Given the description of an element on the screen output the (x, y) to click on. 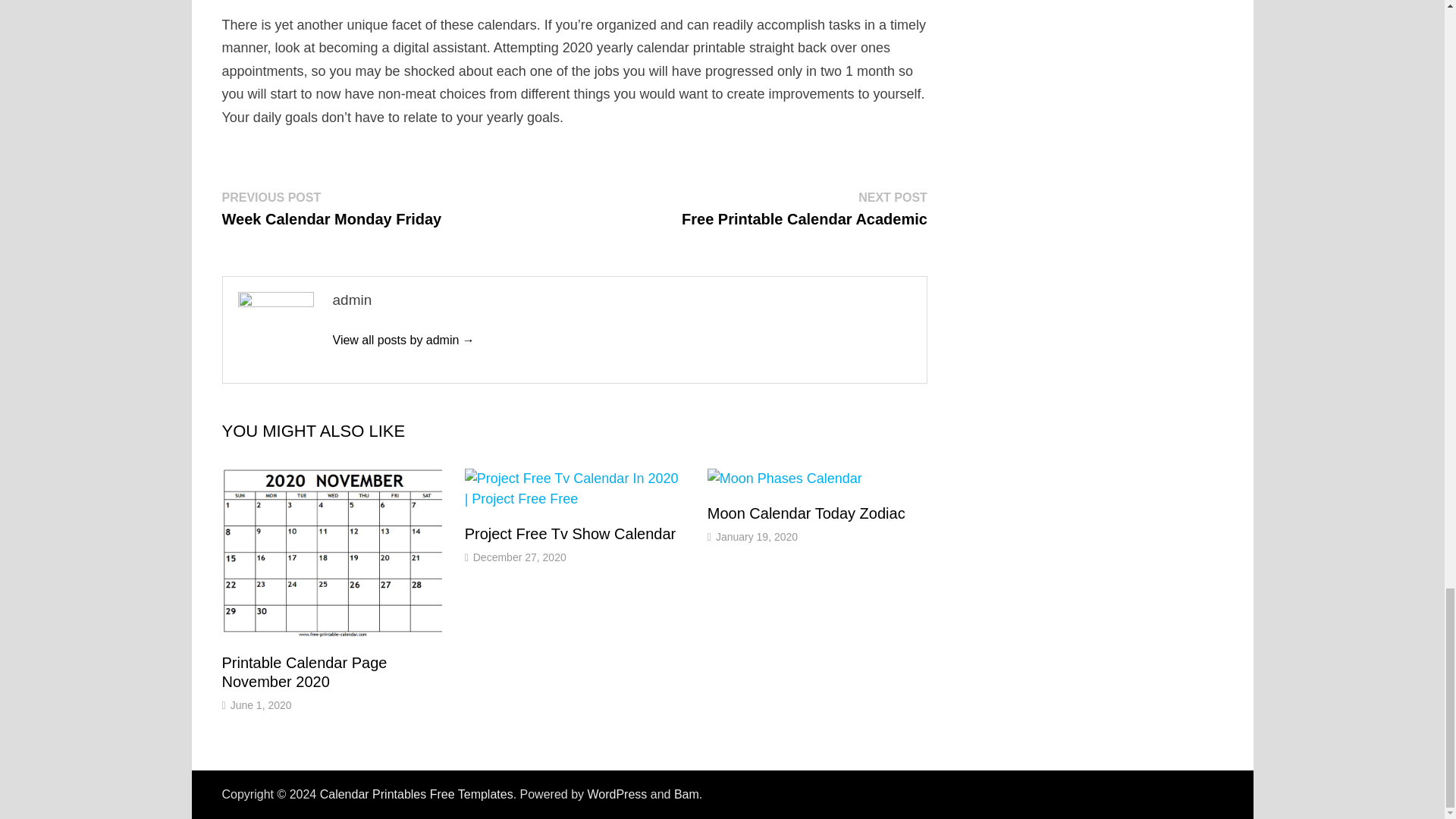
June 1, 2020 (261, 705)
December 27, 2020 (804, 208)
Moon Calendar Today Zodiac (519, 557)
Printable Calendar Page November 2020 (806, 513)
Bam (304, 672)
January 19, 2020 (686, 793)
Project Free Tv Show Calendar (756, 536)
Moon Calendar Today Zodiac (570, 533)
Printable Calendar Page November 2020 (806, 513)
WordPress (304, 672)
Project Free Tv Show Calendar (616, 793)
Calendar Printables Free Templates (570, 533)
admin (416, 793)
Calendar Printables Free Templates (402, 339)
